Given the description of an element on the screen output the (x, y) to click on. 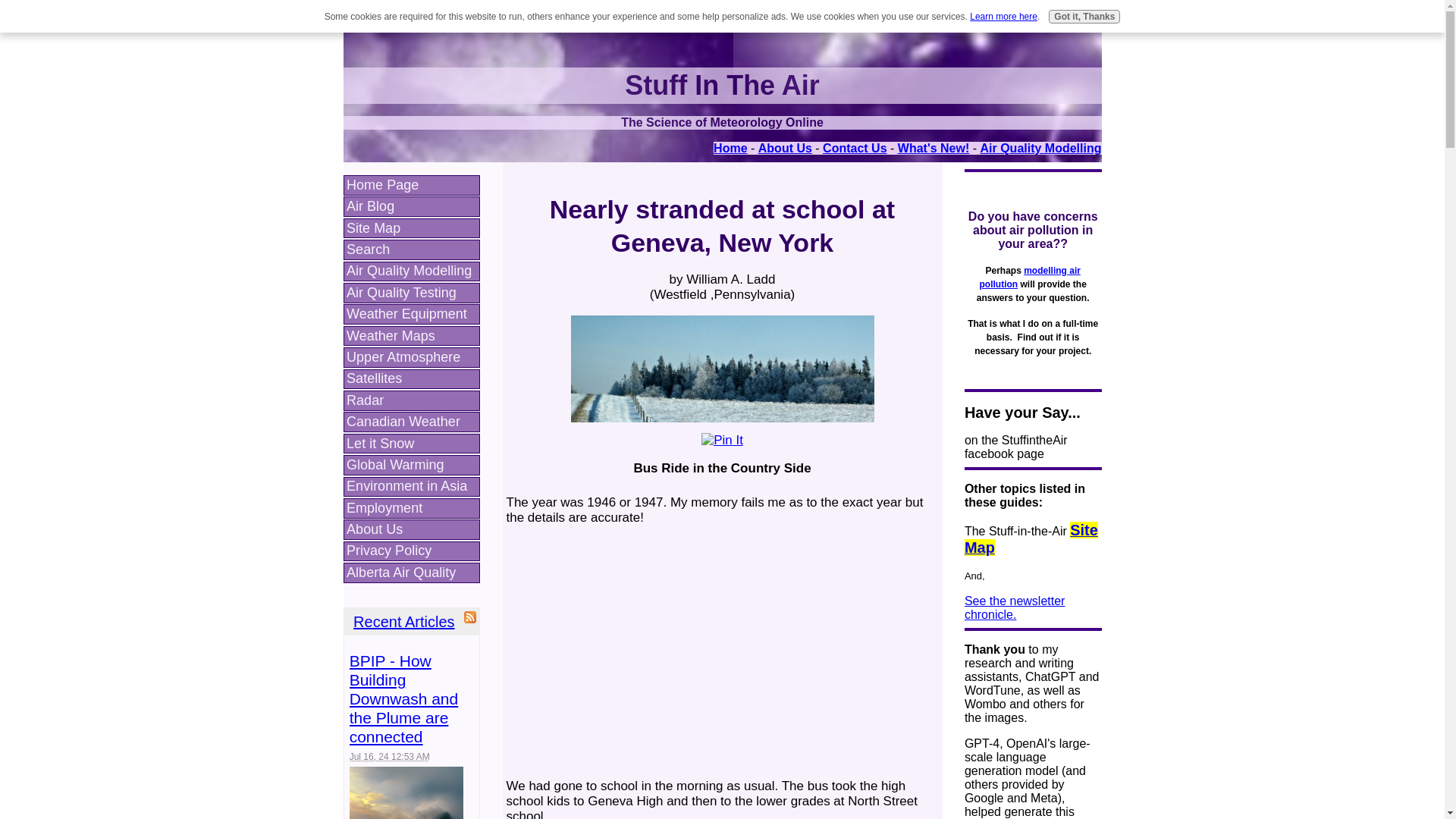
Recent Articles (403, 621)
Contact Us (854, 147)
Environment in Asia (411, 486)
BPIP - How Building Downwash and the Plume are connected (403, 698)
About Us (785, 147)
Let it Snow (411, 444)
Stuff In The Air (721, 84)
Search (411, 249)
Pin It (721, 440)
Alberta Air Quality (411, 572)
Site Map (411, 228)
Air Quality Testing (411, 292)
Upper Atmosphere (411, 357)
Privacy Policy (411, 551)
Air Blog (411, 206)
